Given the description of an element on the screen output the (x, y) to click on. 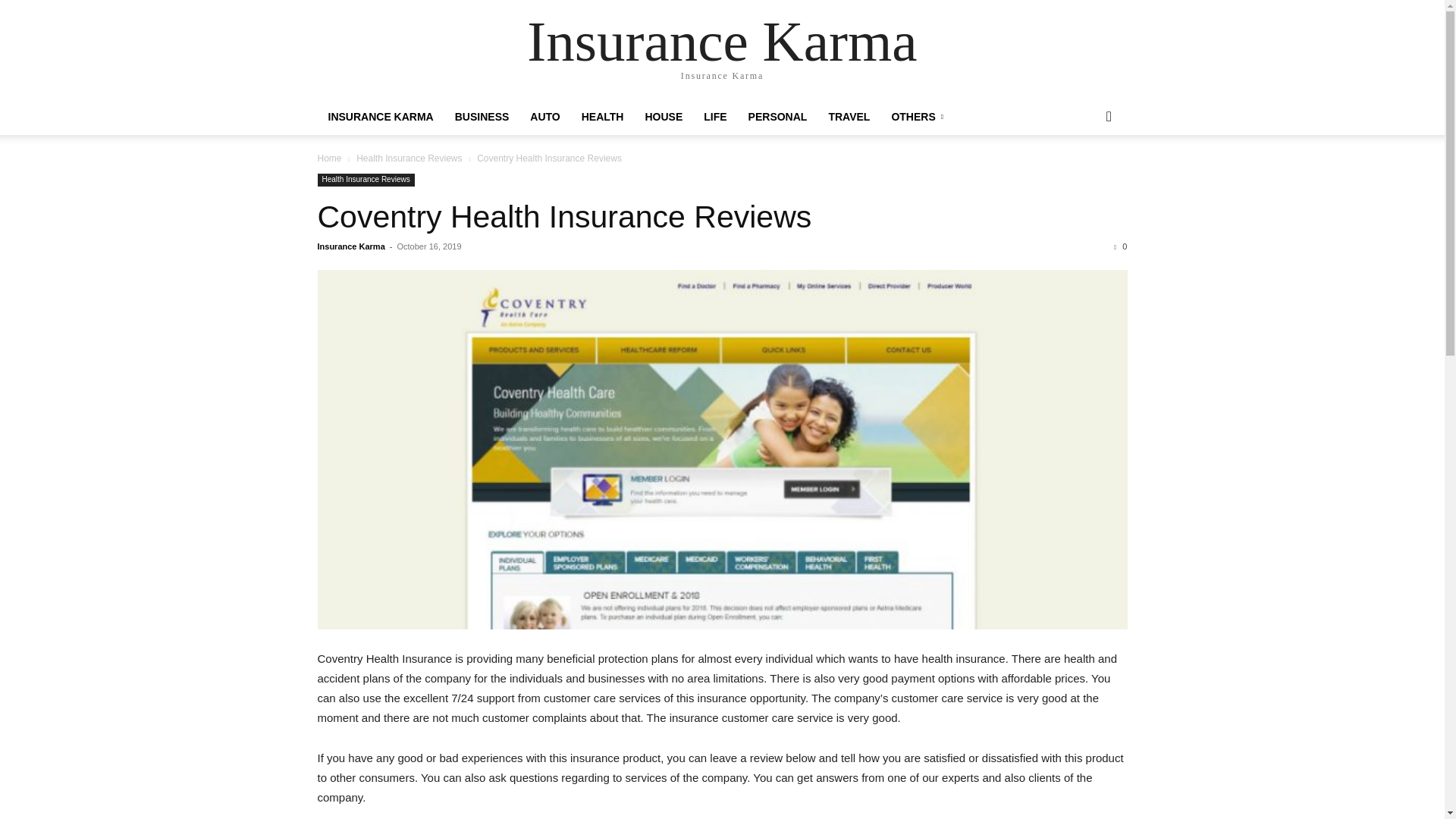
OTHERS (916, 116)
PERSONAL (778, 116)
LIFE (714, 116)
BUSINESS (481, 116)
AUTO (544, 116)
HEALTH (602, 116)
Insurance Karma (722, 41)
Coventry Health Insurance Reviews (563, 216)
INSURANCE KARMA (380, 116)
TRAVEL (848, 116)
